Given the description of an element on the screen output the (x, y) to click on. 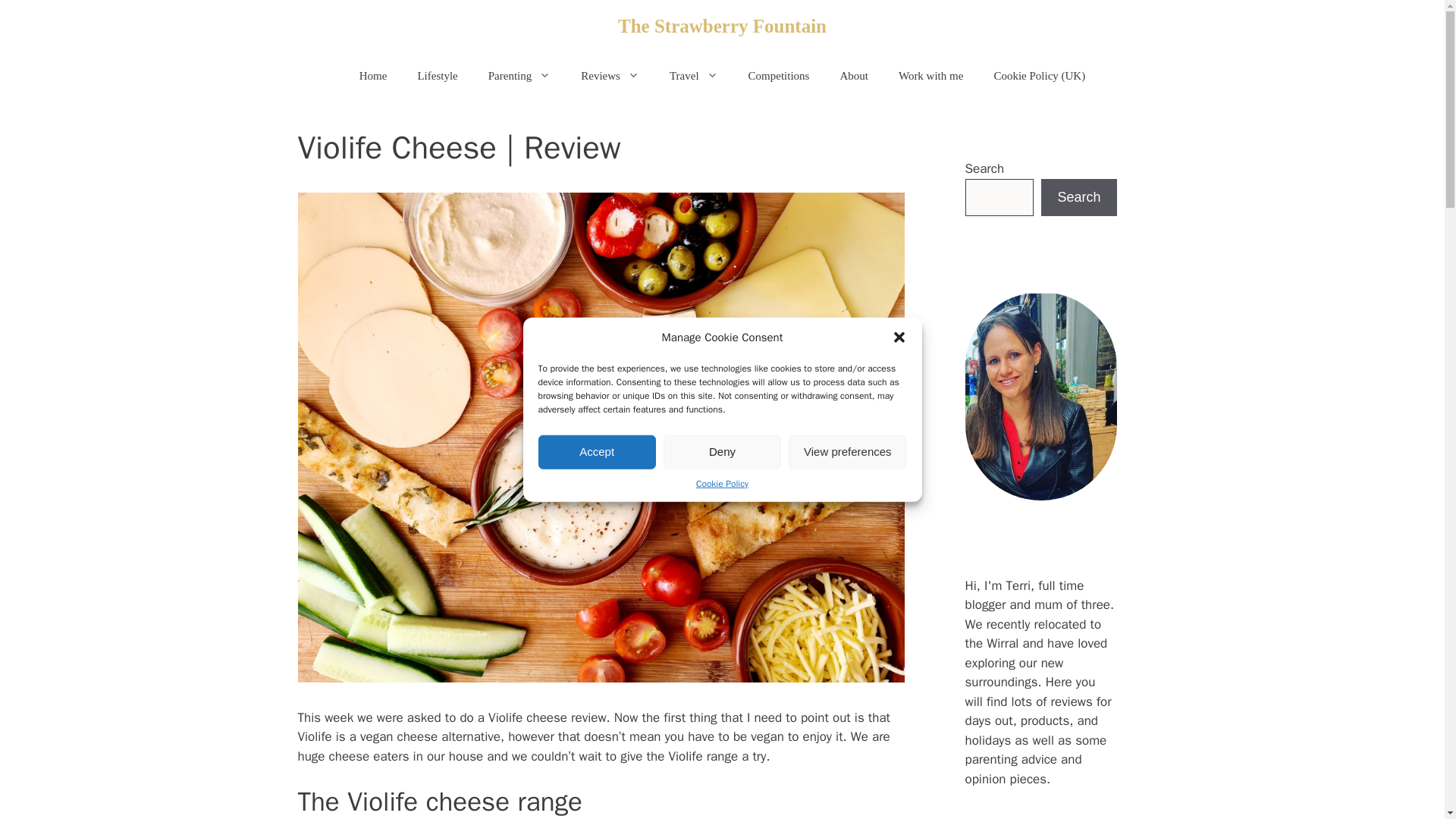
Home (373, 75)
Cookie Policy (721, 482)
Parenting (519, 75)
Travel (693, 75)
View preferences (847, 451)
The Strawberry Fountain (722, 25)
Deny (721, 451)
Reviews (609, 75)
Accept (597, 451)
Lifestyle (436, 75)
